Given the description of an element on the screen output the (x, y) to click on. 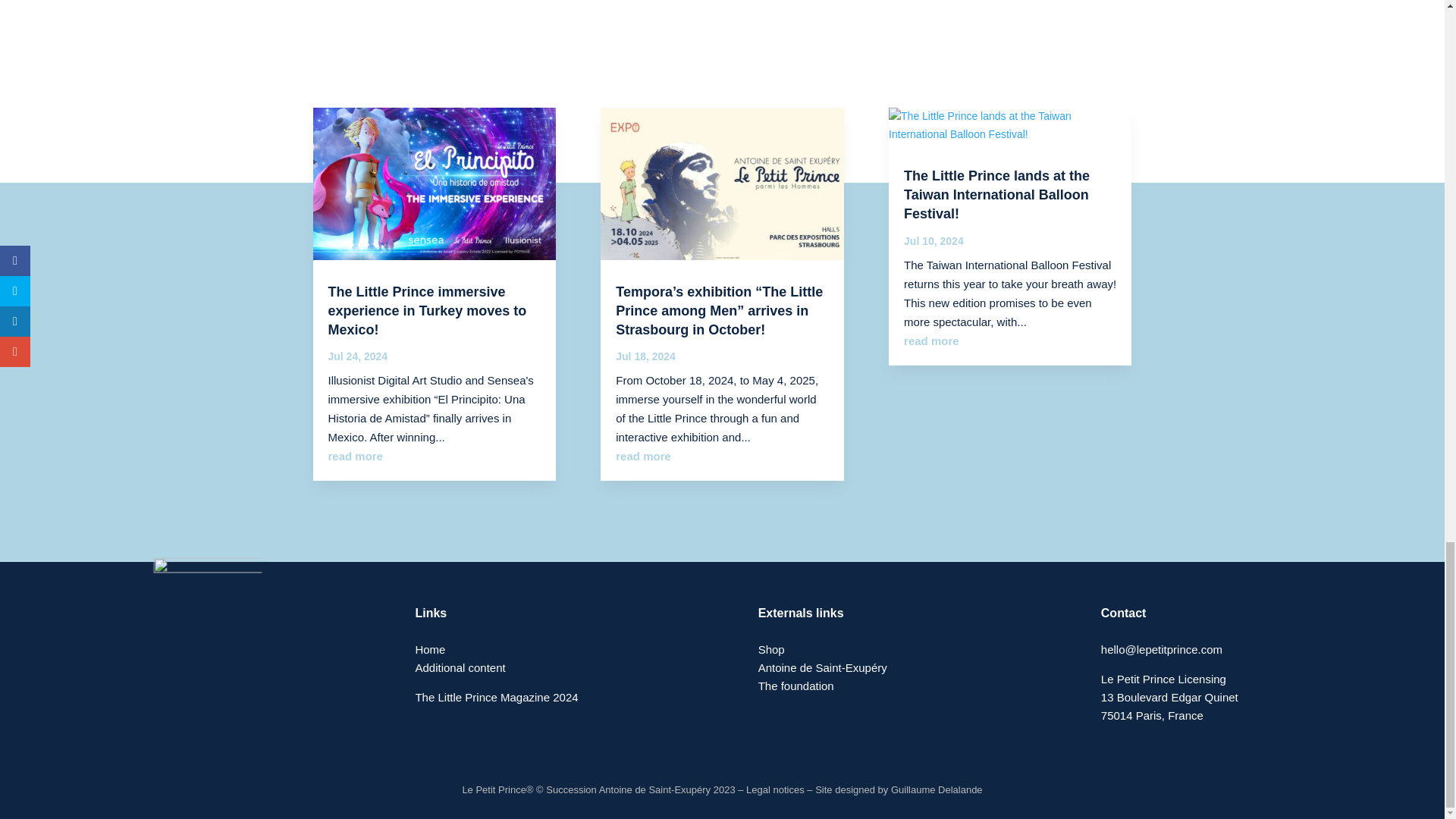
read more (931, 340)
read more (643, 455)
read more (354, 455)
